Given the description of an element on the screen output the (x, y) to click on. 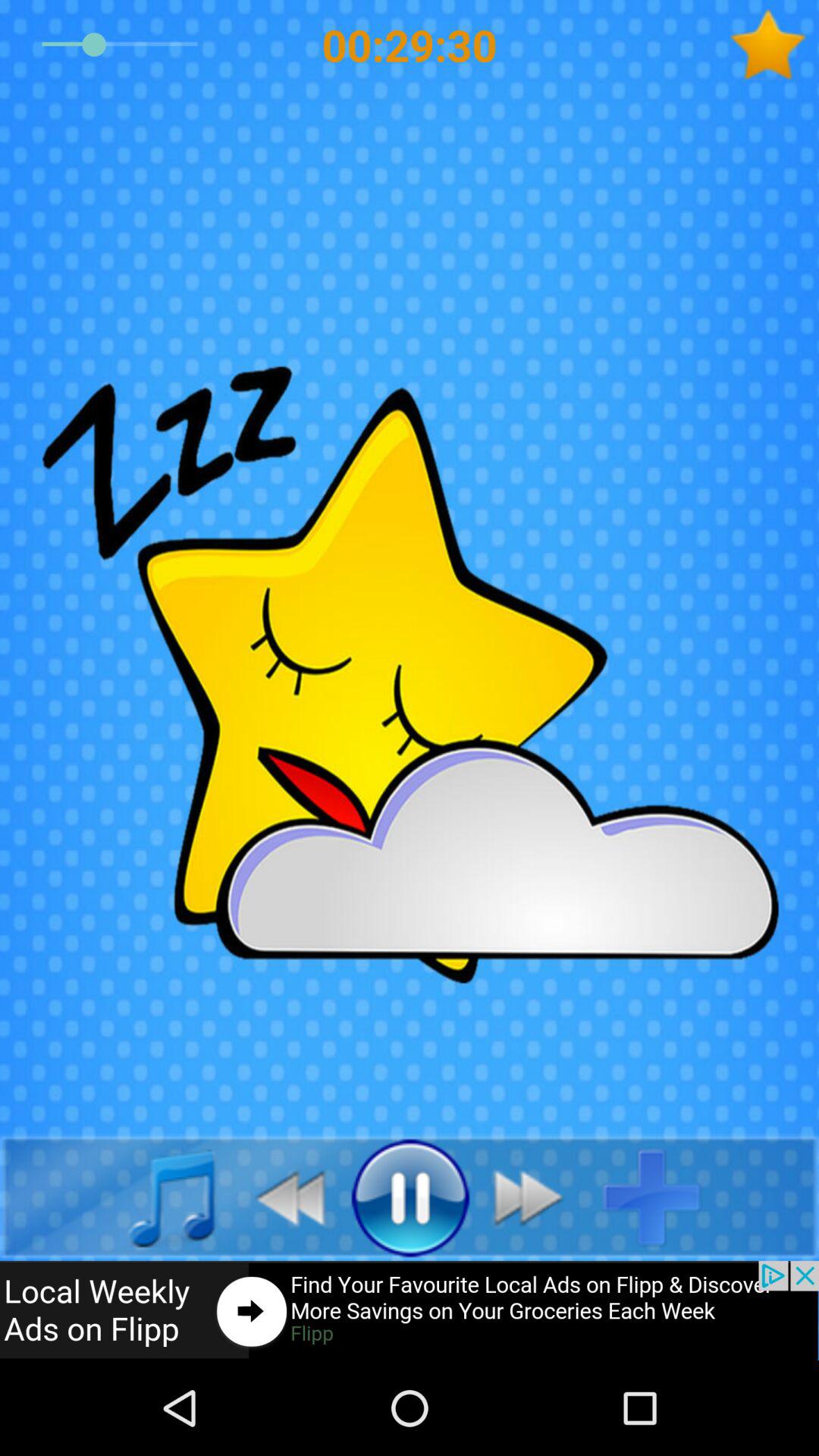
back button (154, 1196)
